Given the description of an element on the screen output the (x, y) to click on. 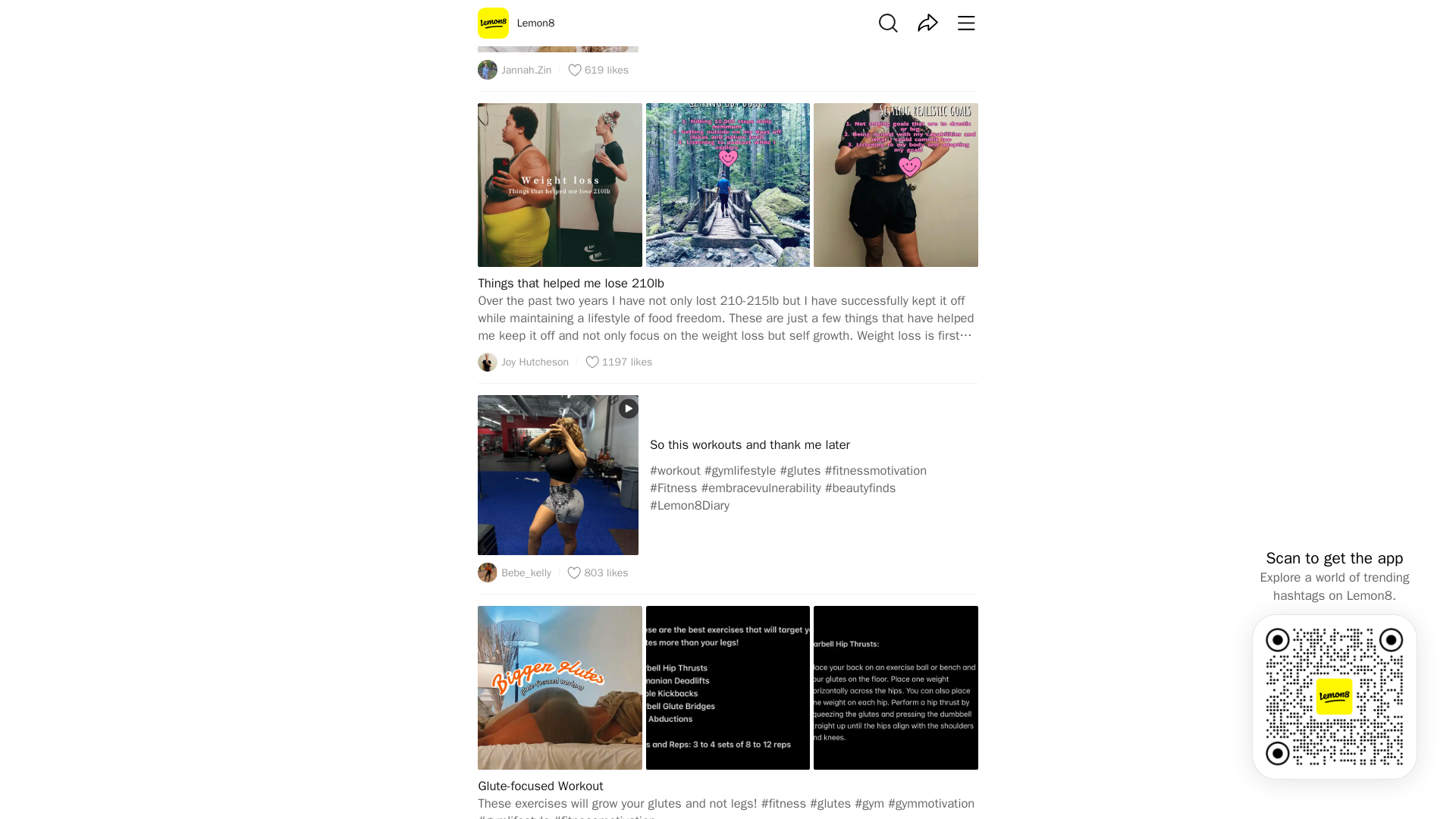
Jannah.Zin (514, 69)
Joy Hutcheson (523, 362)
